Given the description of an element on the screen output the (x, y) to click on. 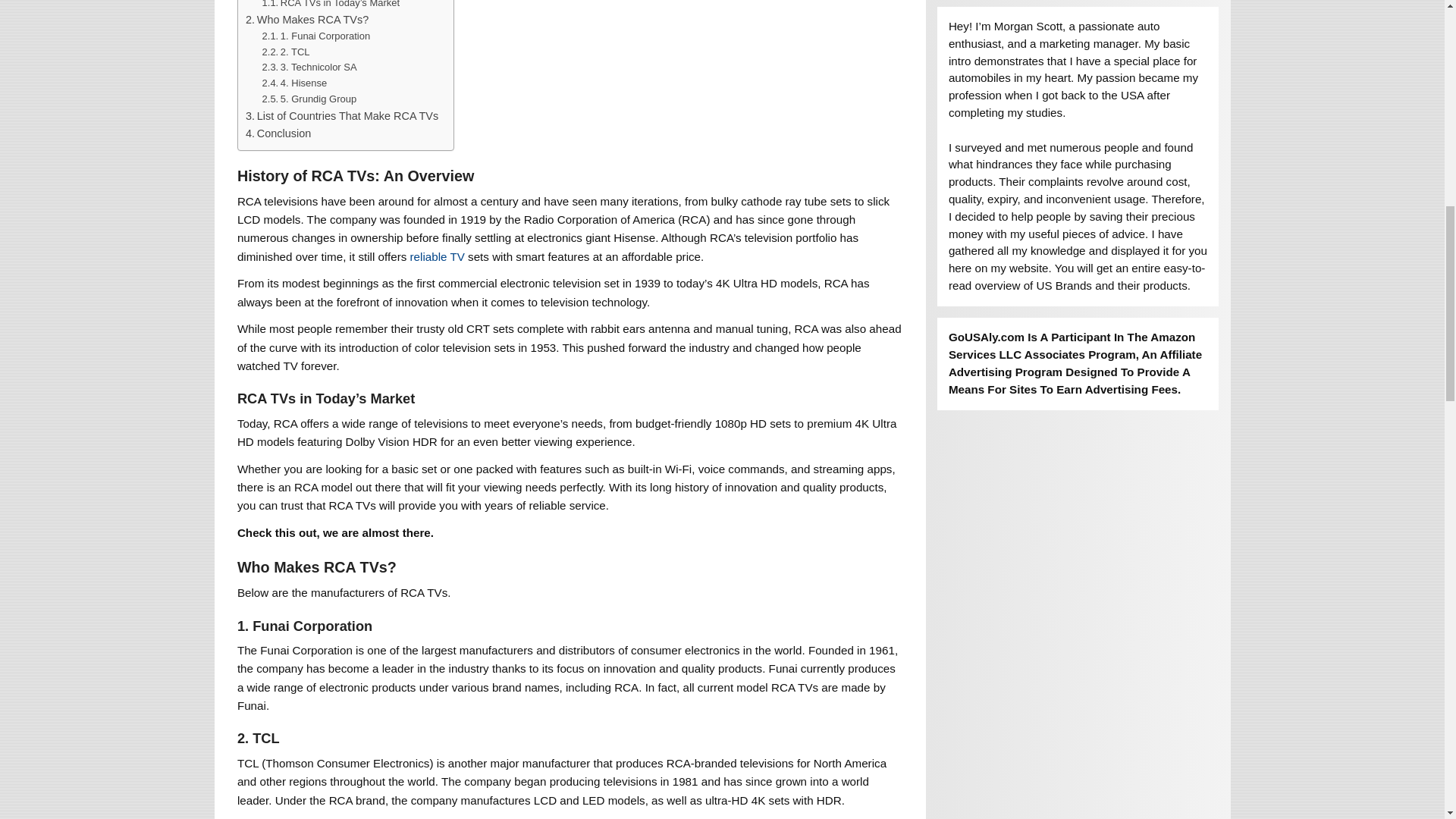
Who Makes RCA TVs? (307, 19)
Conclusion (278, 133)
List of Countries That Make RCA TVs (342, 116)
3. Technicolor SA (309, 67)
2. TCL (286, 51)
5. Grundig Group (309, 99)
4. Hisense (294, 83)
1. Funai Corporation (316, 36)
5. Grundig Group (309, 99)
2. TCL (286, 51)
reliable TV (437, 256)
Who Makes RCA TVs? (307, 19)
4. Hisense (294, 83)
1. Funai Corporation (316, 36)
List of Countries That Make RCA TVs (342, 116)
